Given the description of an element on the screen output the (x, y) to click on. 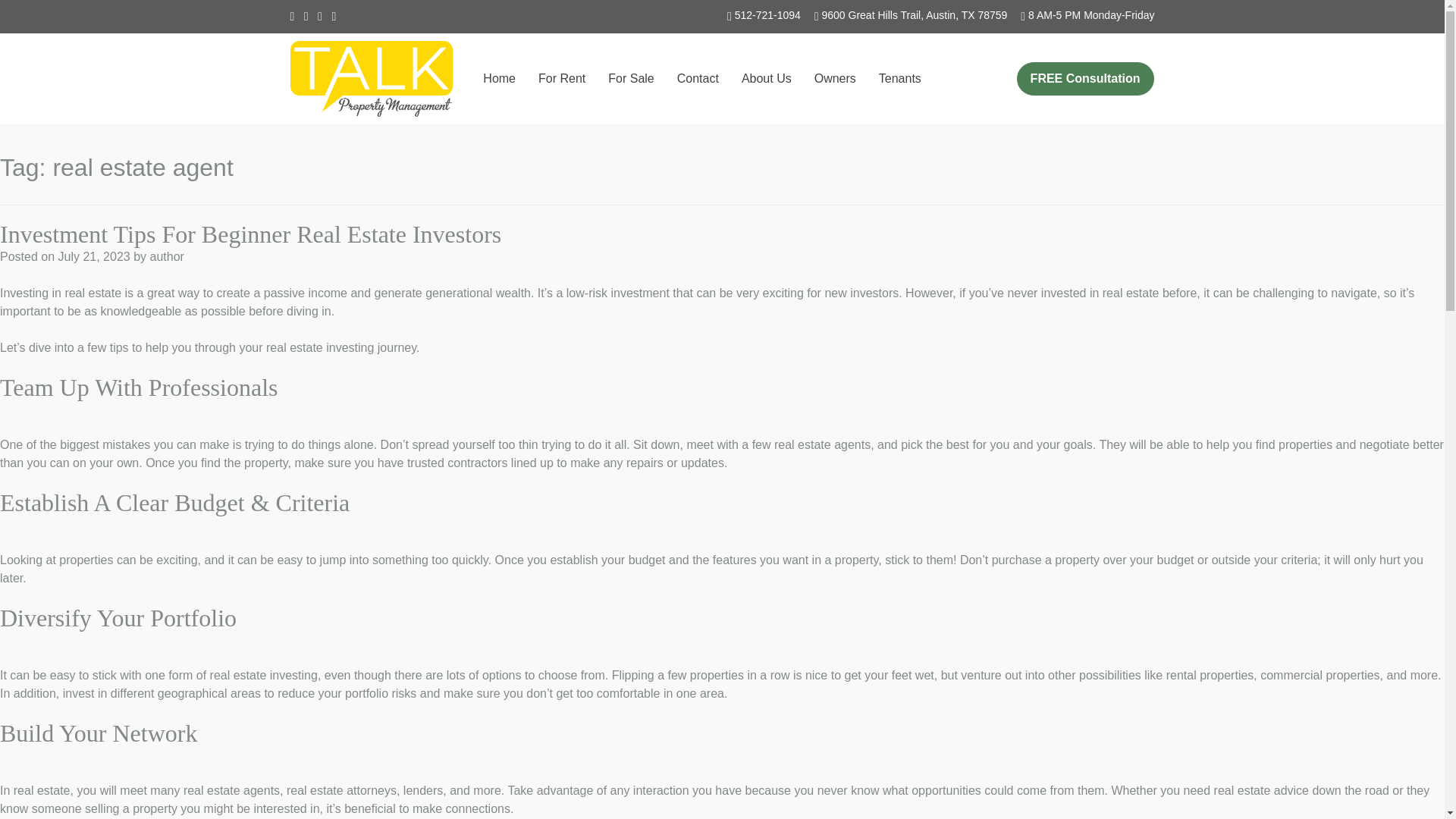
For Sale (630, 78)
Home (499, 78)
Investment Tips For Beginner Real Estate Investors (250, 234)
July 21, 2023 (93, 256)
author (166, 256)
About Us (766, 78)
Tenants (900, 78)
Owners (834, 78)
For Rent (561, 78)
FREE Consultation (1085, 78)
Contact (698, 78)
